Given the description of an element on the screen output the (x, y) to click on. 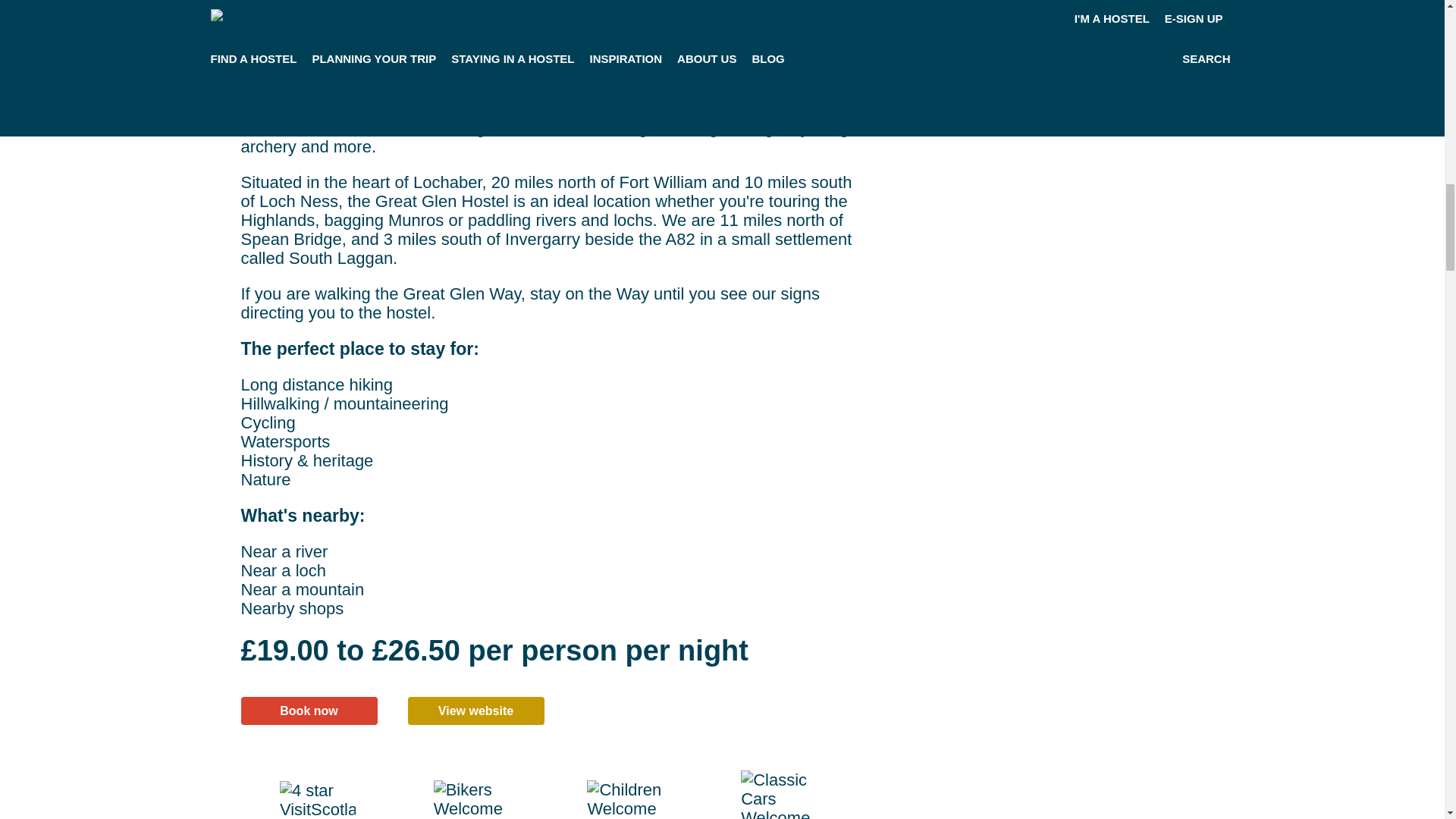
Children Welcome Scheme  (624, 799)
4 star VisitScotland Hostel Rating (317, 800)
Bikers Welcome Scheme  (471, 799)
View website (475, 710)
Book now (309, 710)
Classic Cars Welcome Scheme  (778, 794)
